Given the description of an element on the screen output the (x, y) to click on. 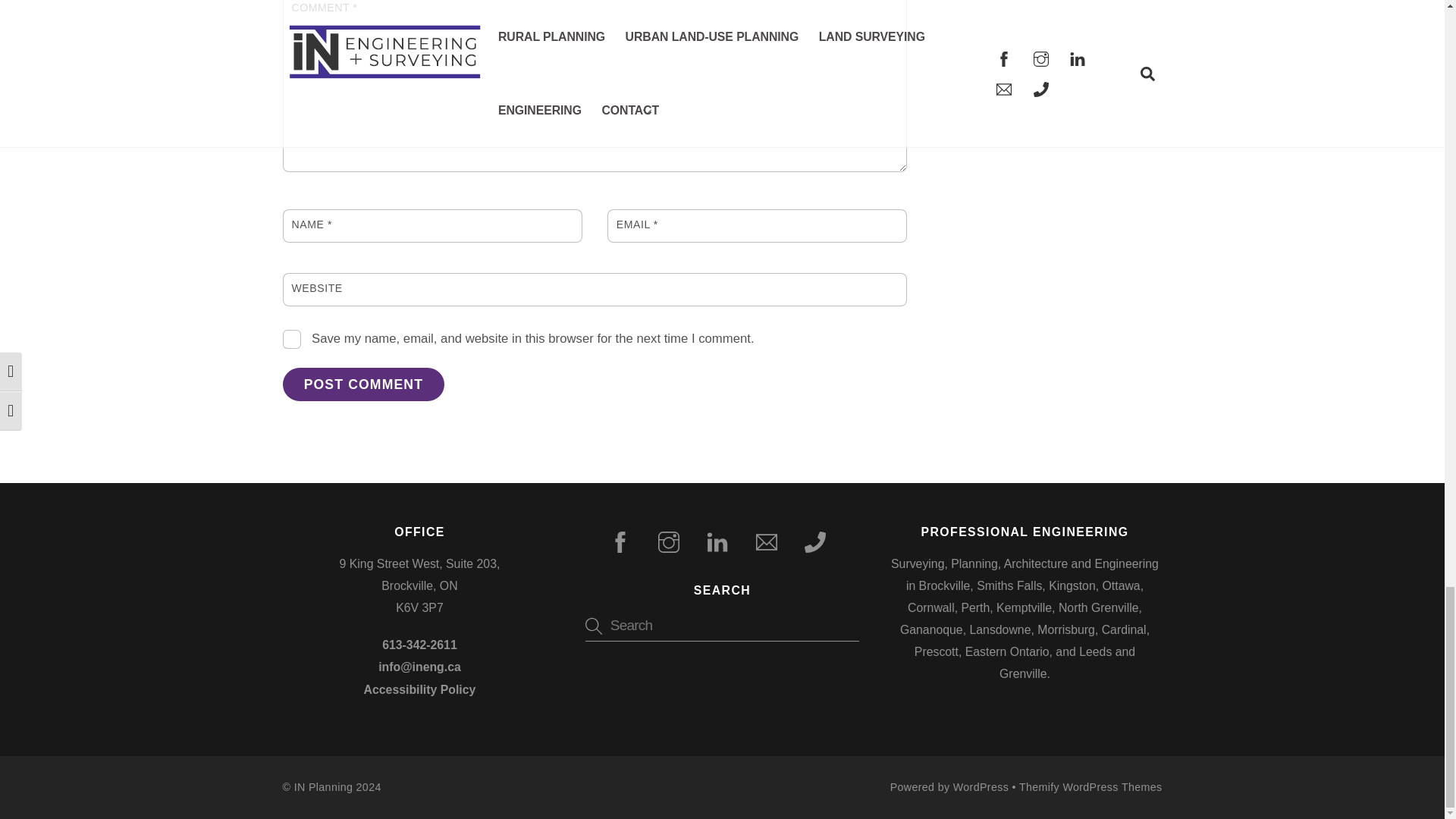
Post Comment (363, 384)
yes (291, 339)
Post Comment (363, 384)
